Given the description of an element on the screen output the (x, y) to click on. 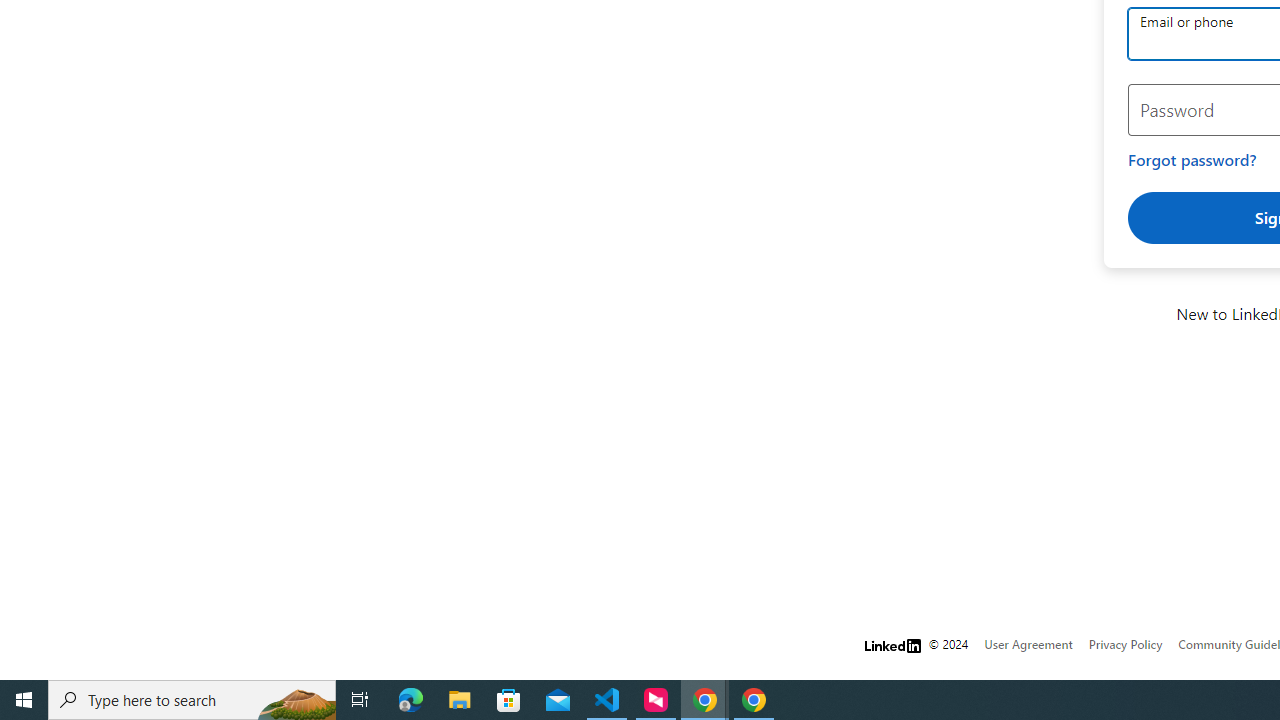
Forgot password? (1192, 160)
User Agreement (1028, 643)
